Given the description of an element on the screen output the (x, y) to click on. 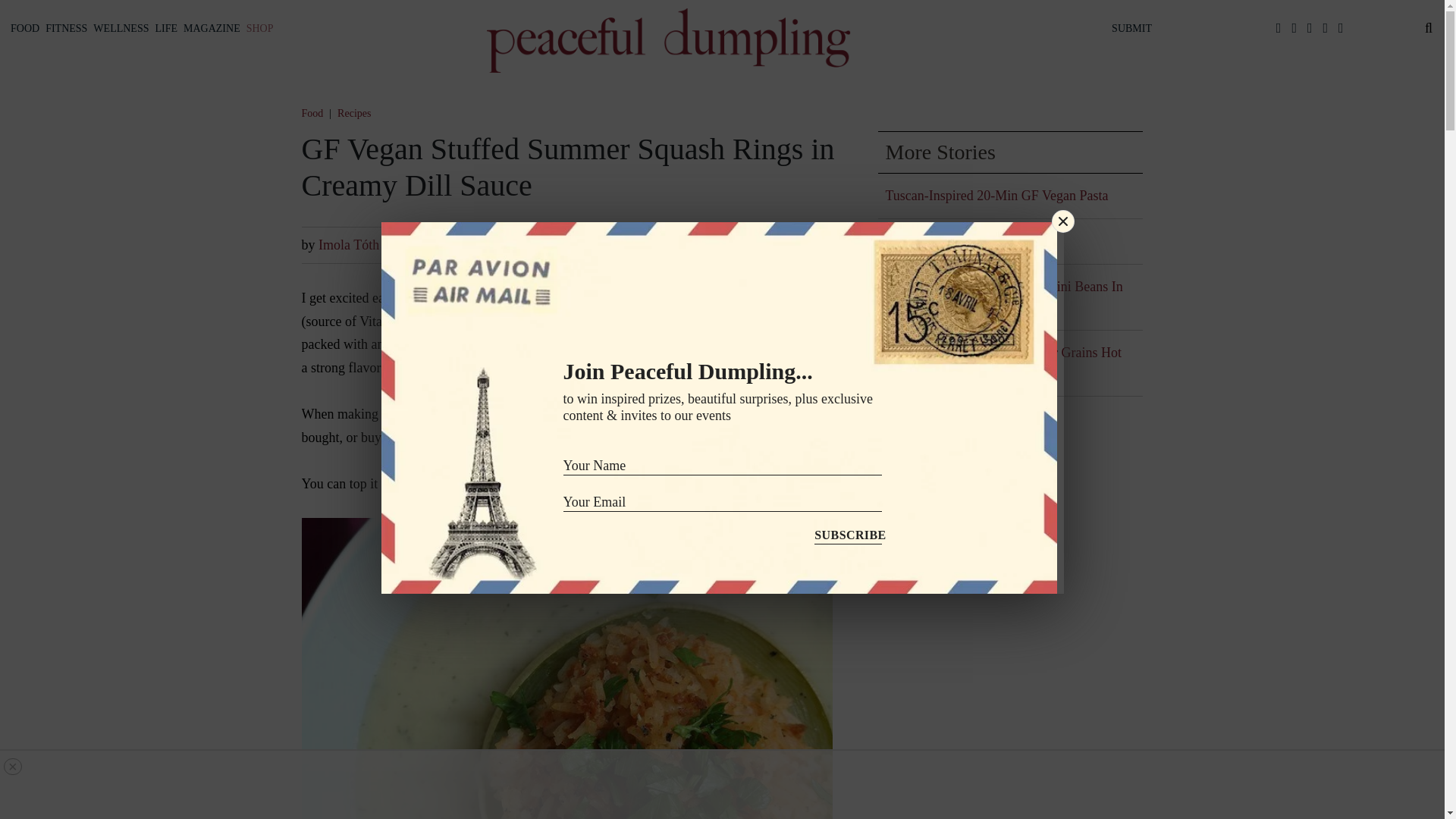
WELLNESS (120, 28)
Close (1063, 220)
SUBSCRIBE (846, 531)
